Given the description of an element on the screen output the (x, y) to click on. 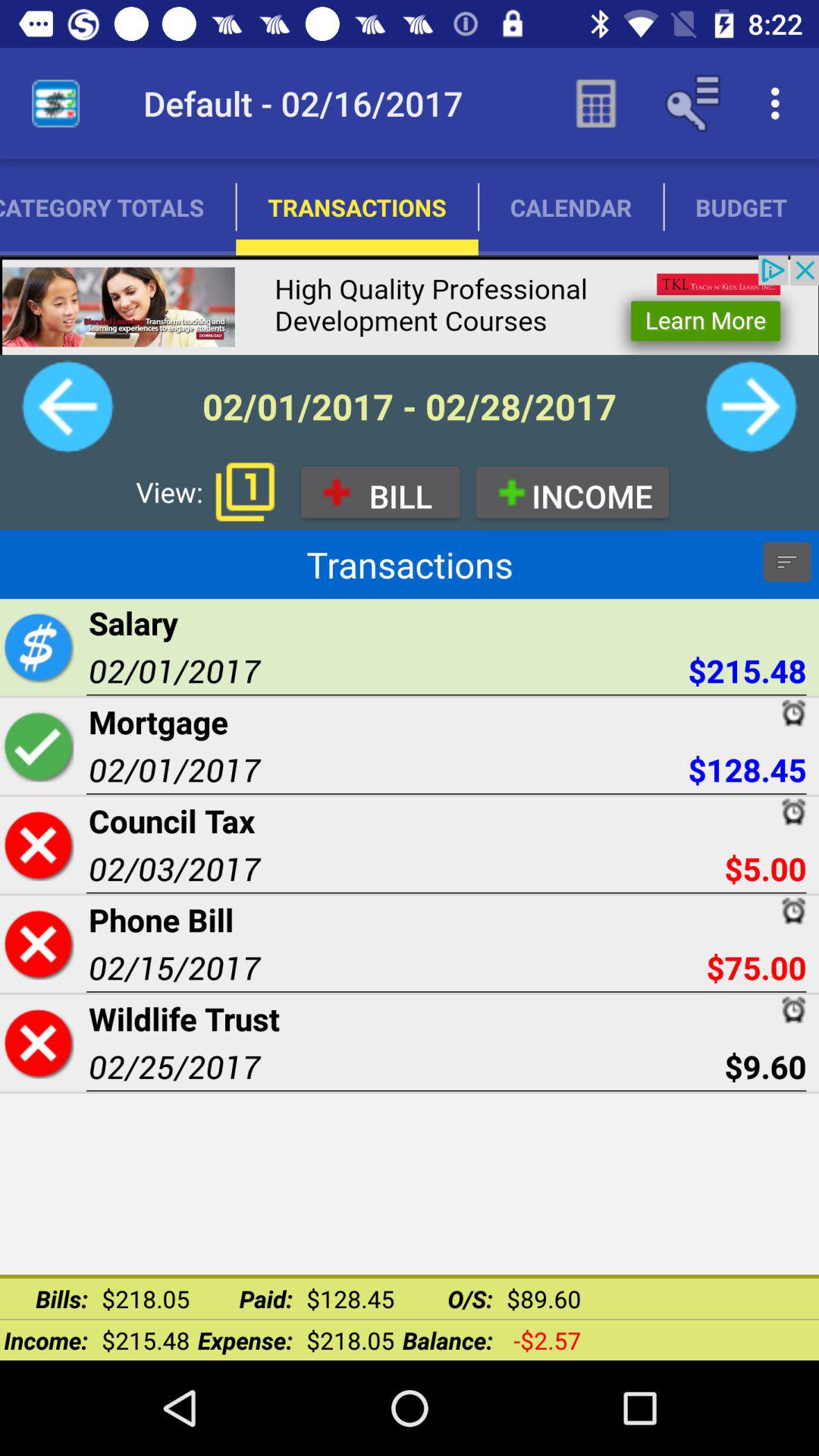
go to next ddate (751, 406)
